Given the description of an element on the screen output the (x, y) to click on. 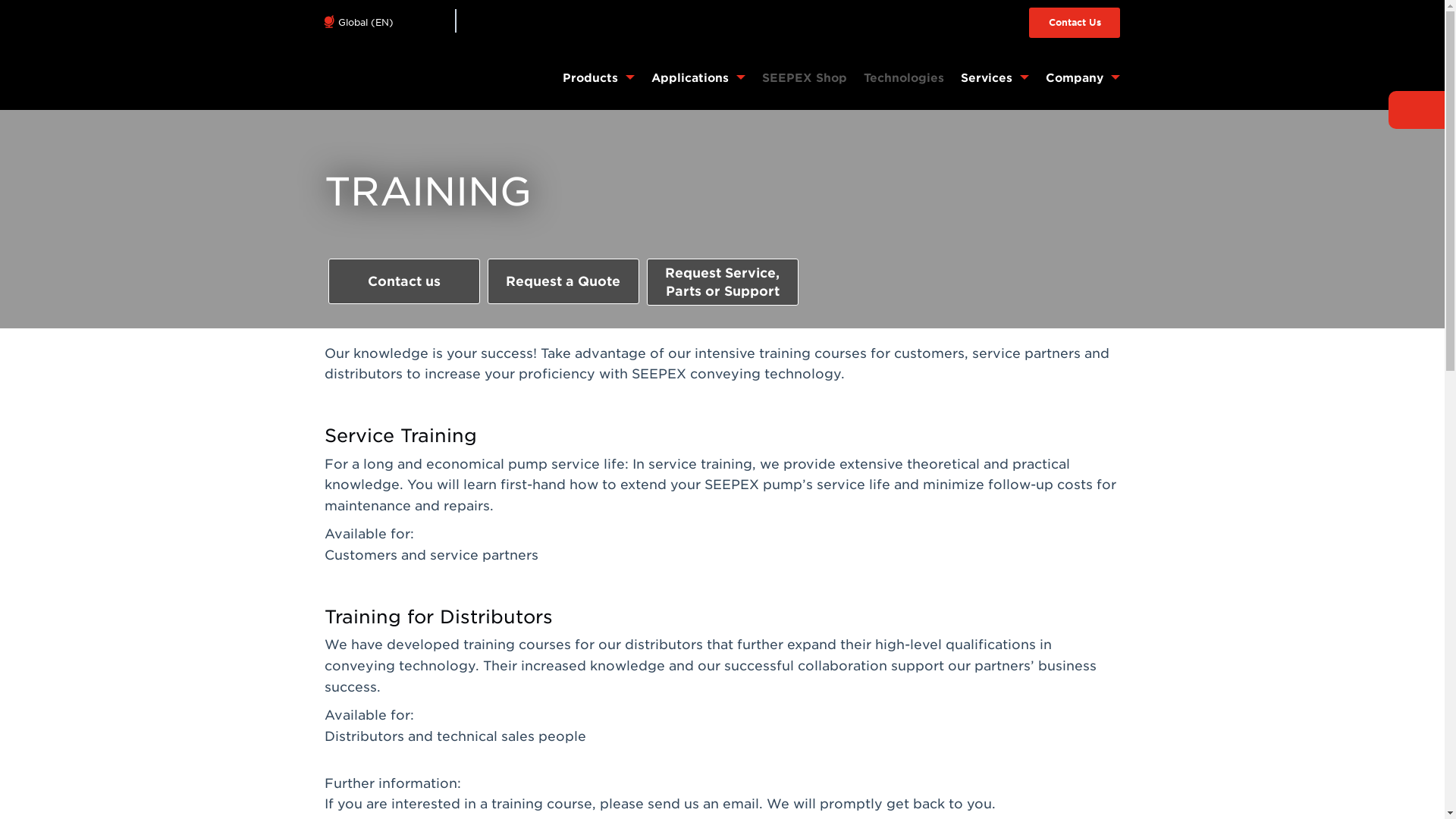
RegionlForm (391, 20)
